Given the description of an element on the screen output the (x, y) to click on. 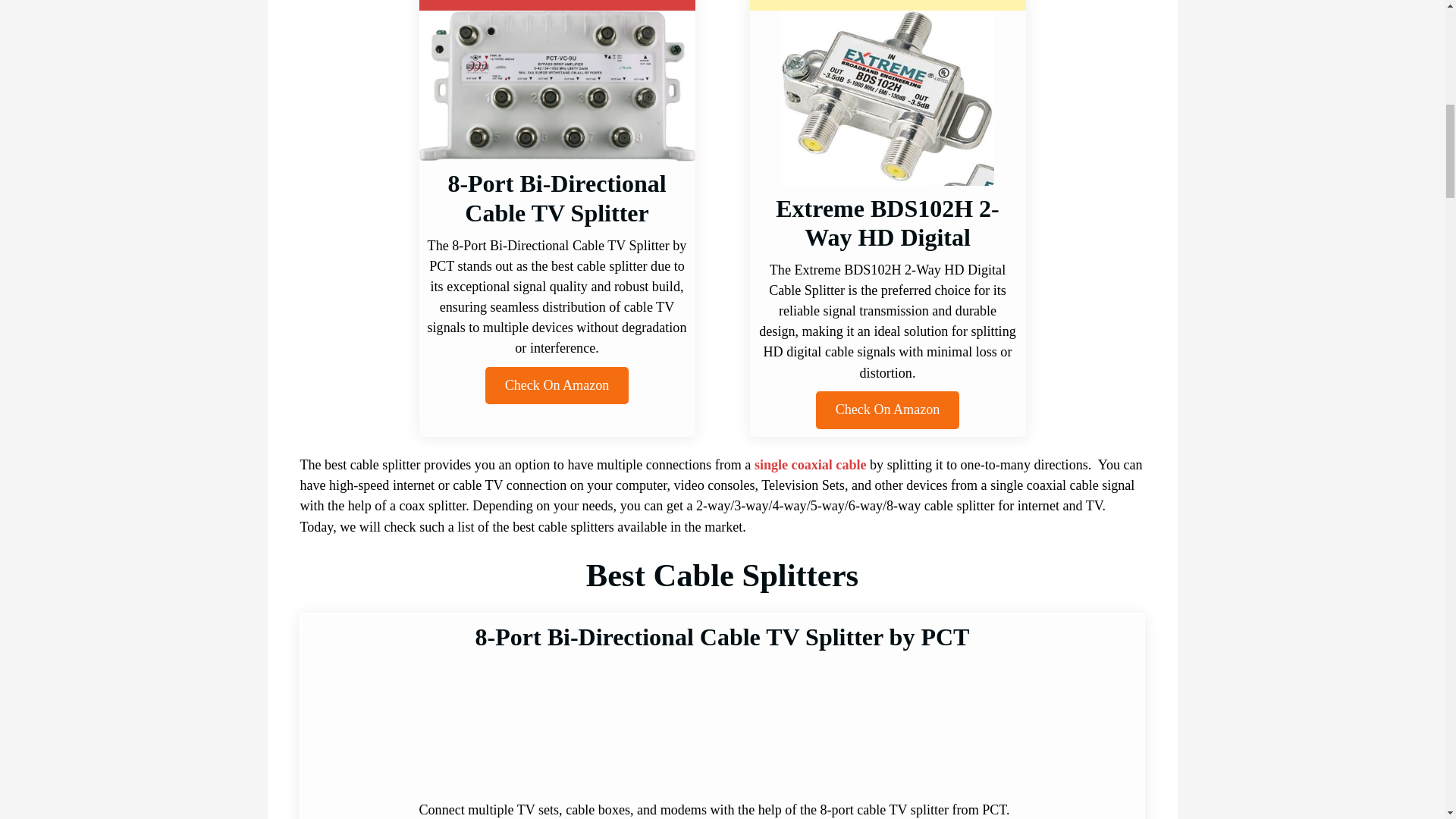
Check On Amazon (887, 409)
single coaxial cable (810, 464)
Check On Amazon (556, 385)
